Given the description of an element on the screen output the (x, y) to click on. 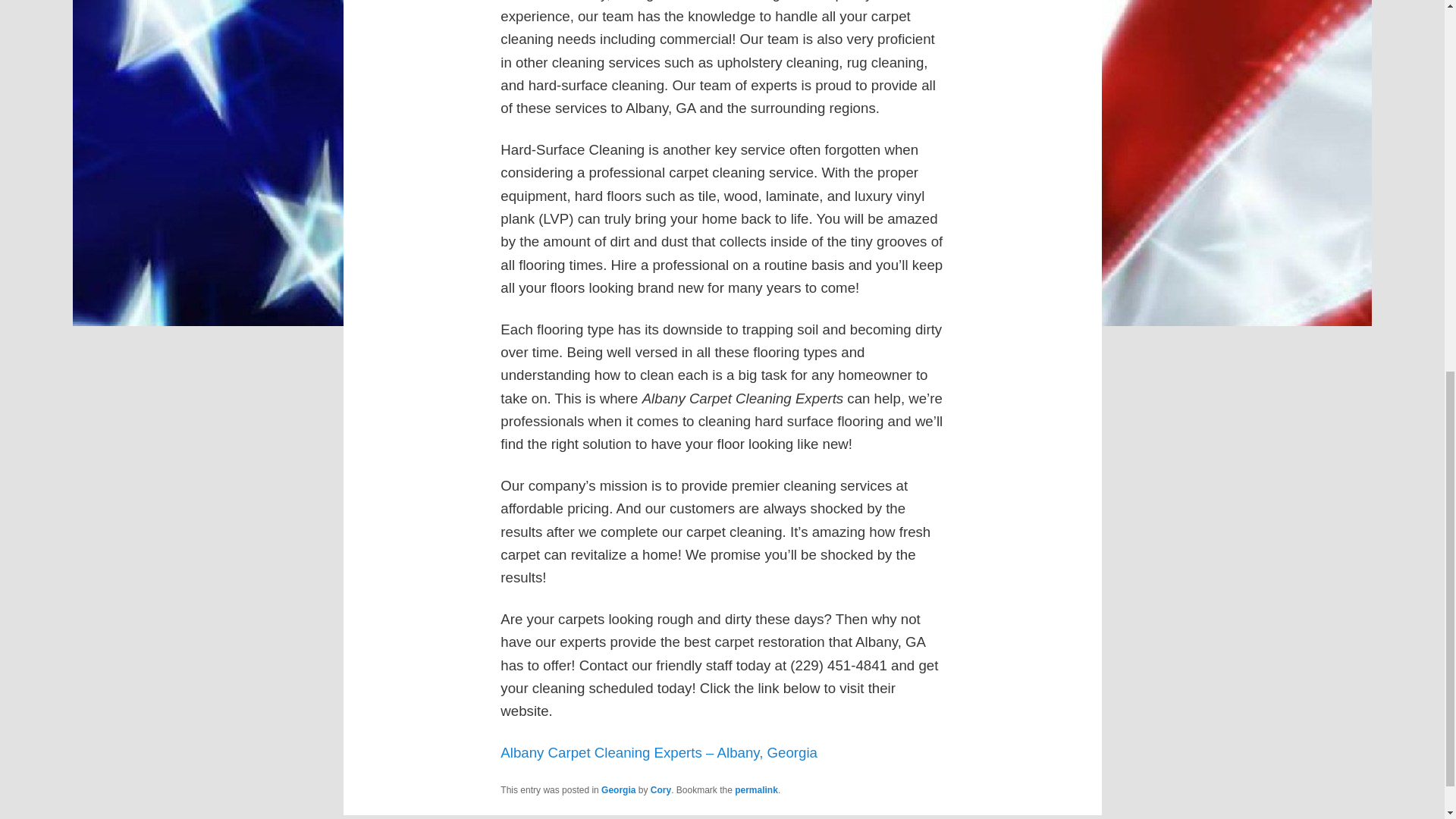
Permalink to Albany Carpet Cleaning Experts (756, 789)
Georgia (617, 789)
permalink (756, 789)
Cory (660, 789)
